Given the description of an element on the screen output the (x, y) to click on. 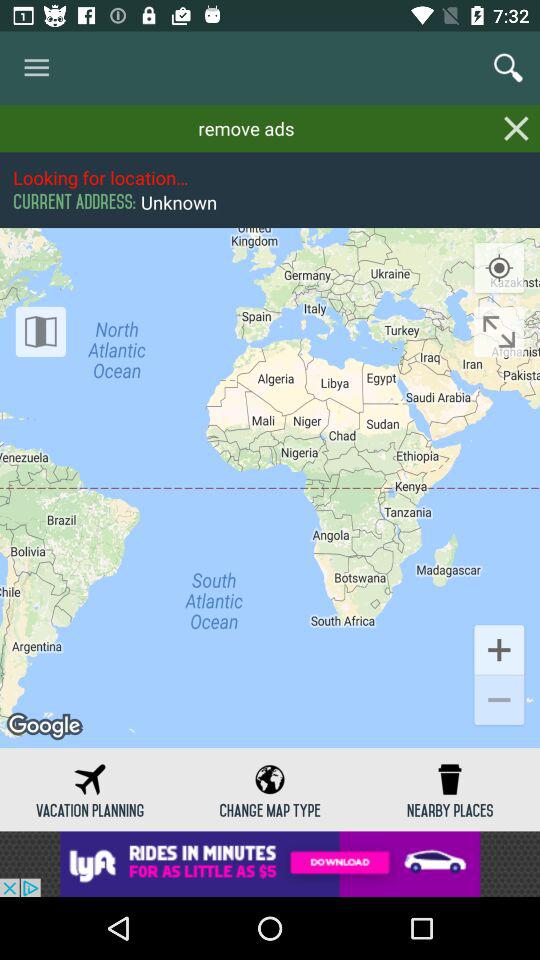
maximize screen (499, 331)
